Given the description of an element on the screen output the (x, y) to click on. 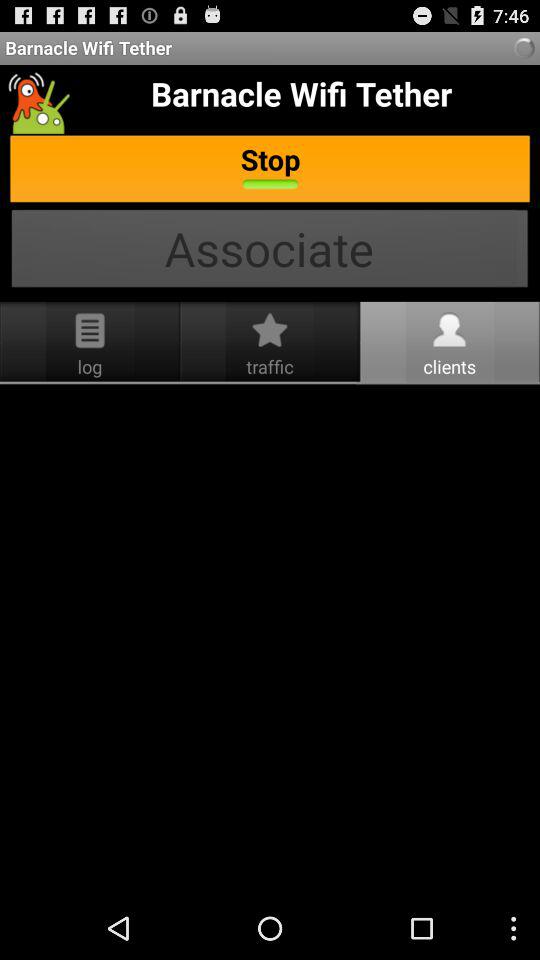
select the clients icon (449, 330)
click on the stop button (269, 171)
select the associate text (269, 251)
go to the icon which is just above the log (90, 330)
click on the star icon which is just above the traffic (269, 330)
